Given the description of an element on the screen output the (x, y) to click on. 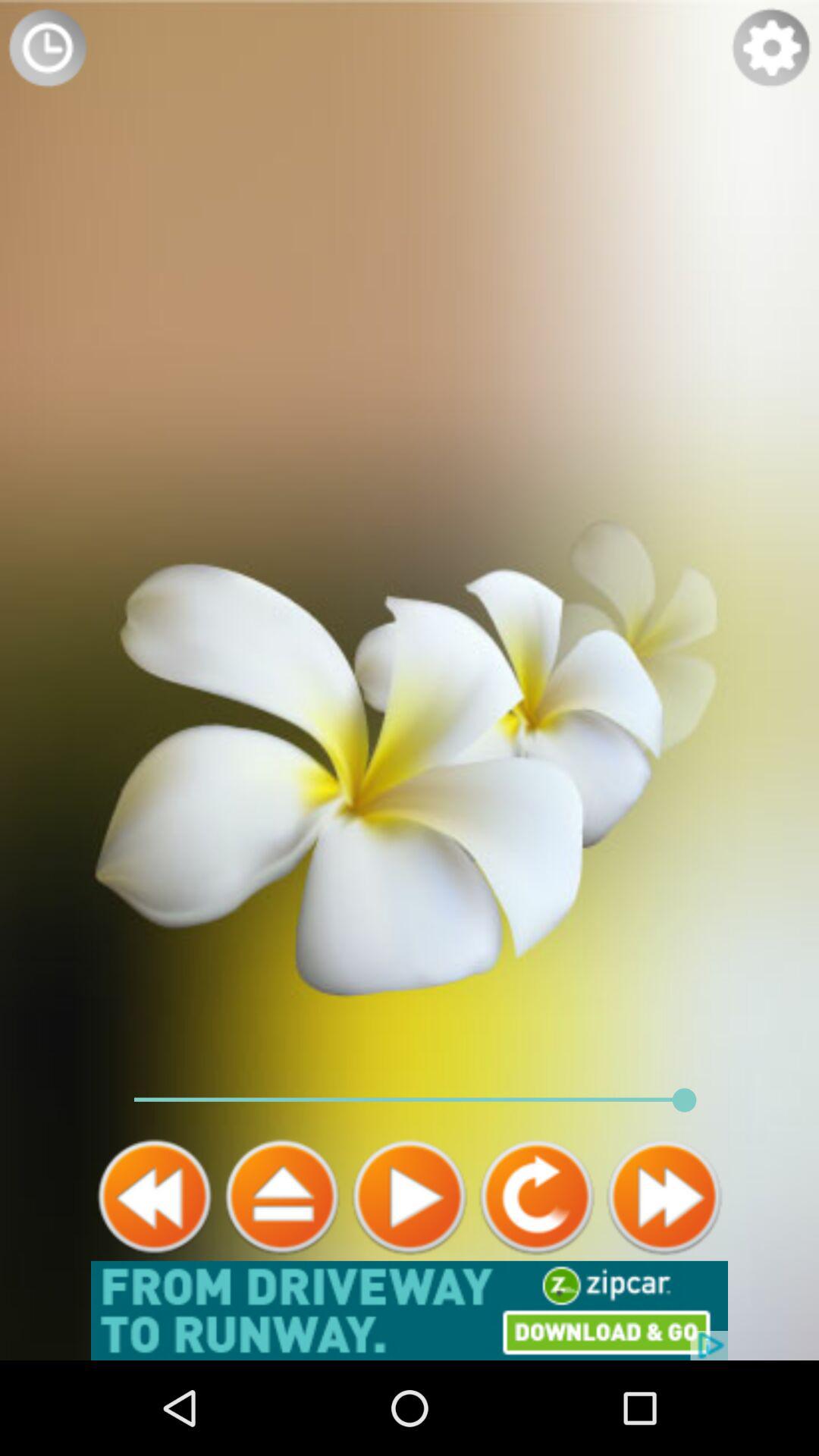
good (154, 1196)
